Given the description of an element on the screen output the (x, y) to click on. 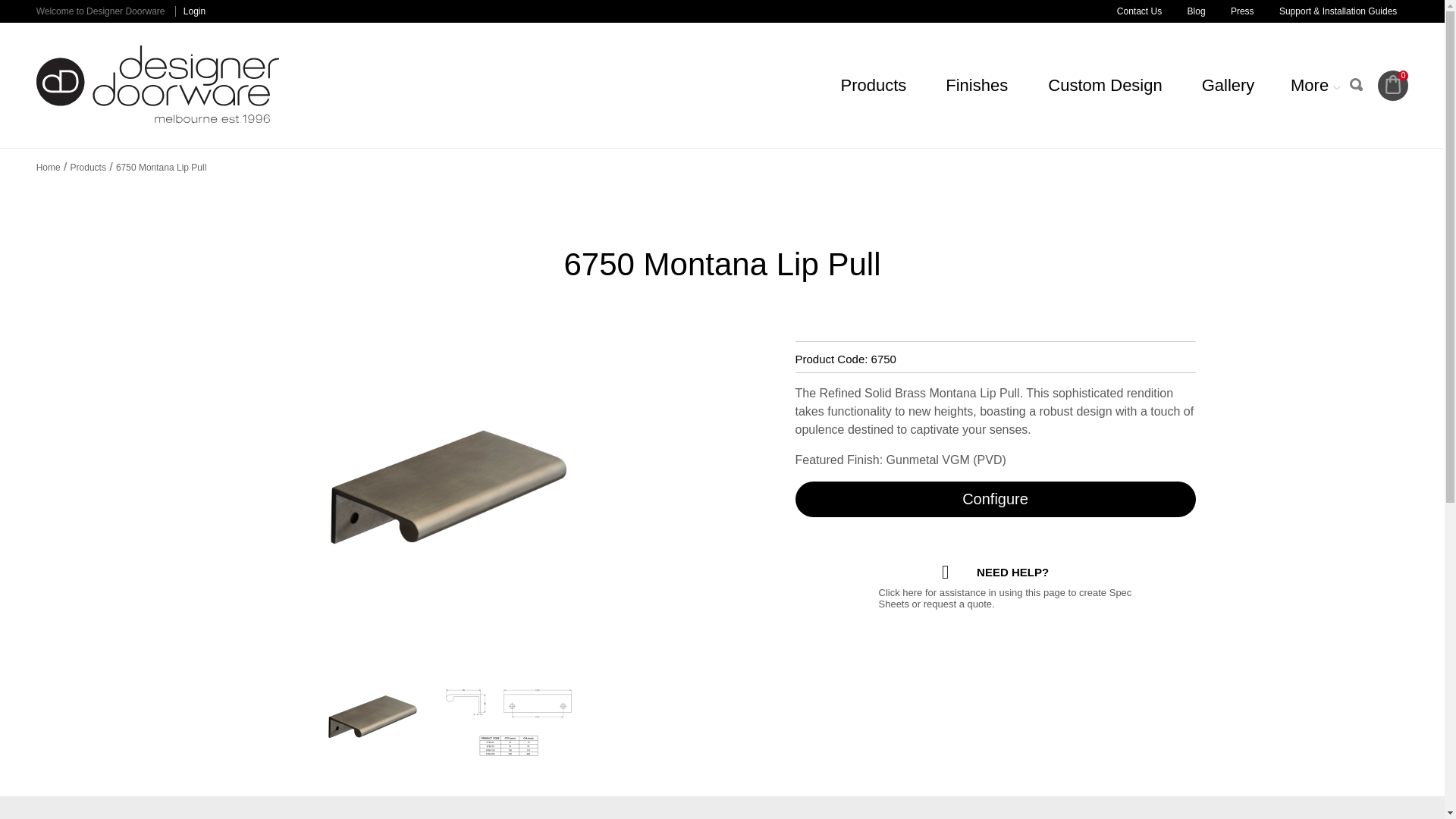
NEED HELP? (995, 571)
Custom Design (1104, 85)
Contact Us (1138, 10)
Finishes (976, 85)
6750 Montana Lip Pull (161, 167)
Configure (994, 498)
Gallery (1227, 85)
Products (87, 167)
Custom Design (1104, 85)
Blog (1196, 10)
